Given the description of an element on the screen output the (x, y) to click on. 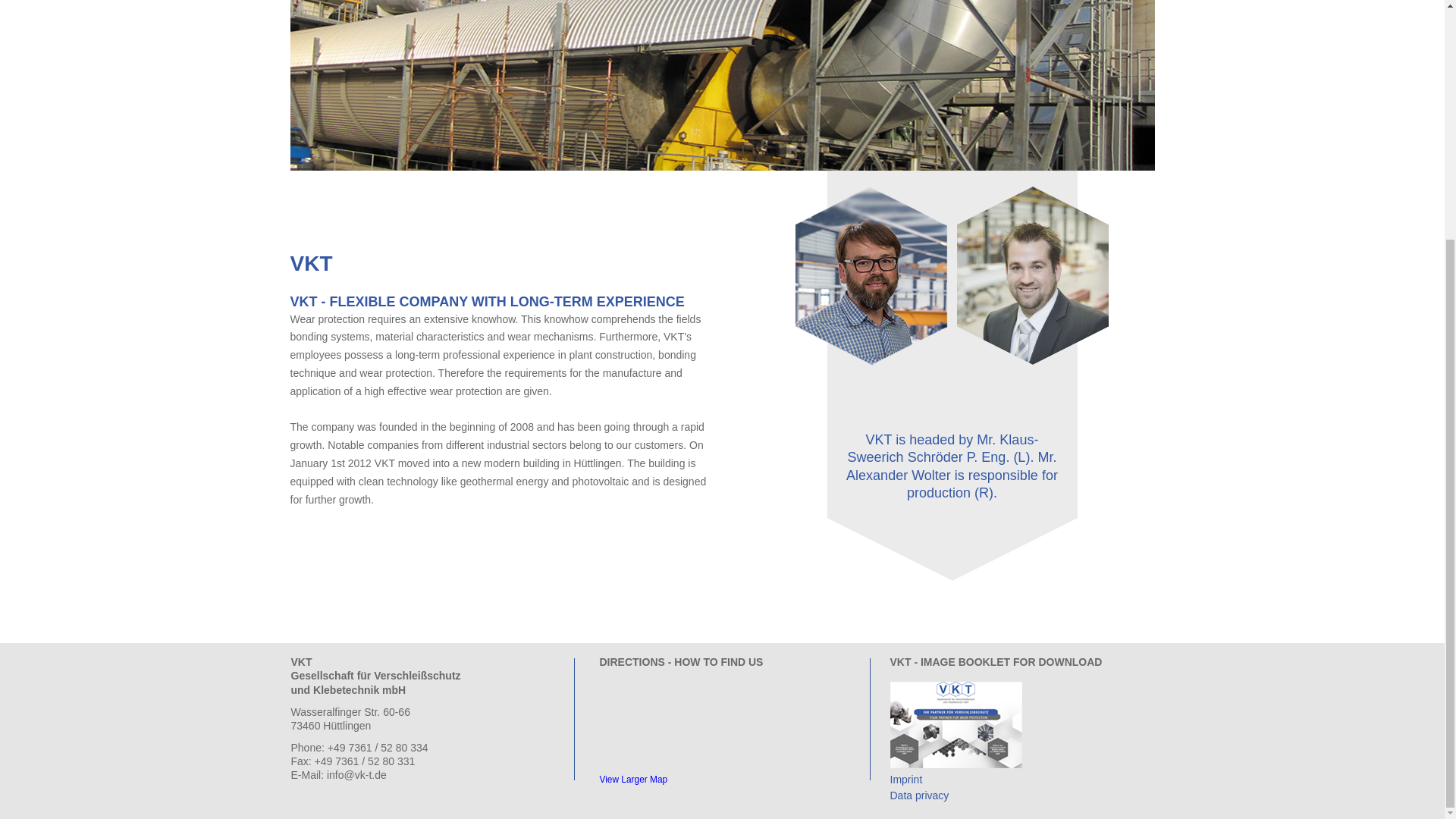
Prev (309, 39)
Next (1134, 39)
Opens internal link in current window (906, 779)
View Larger Map (632, 778)
Opens internal link in current window (919, 795)
Opens window for sending email (356, 775)
